Given the description of an element on the screen output the (x, y) to click on. 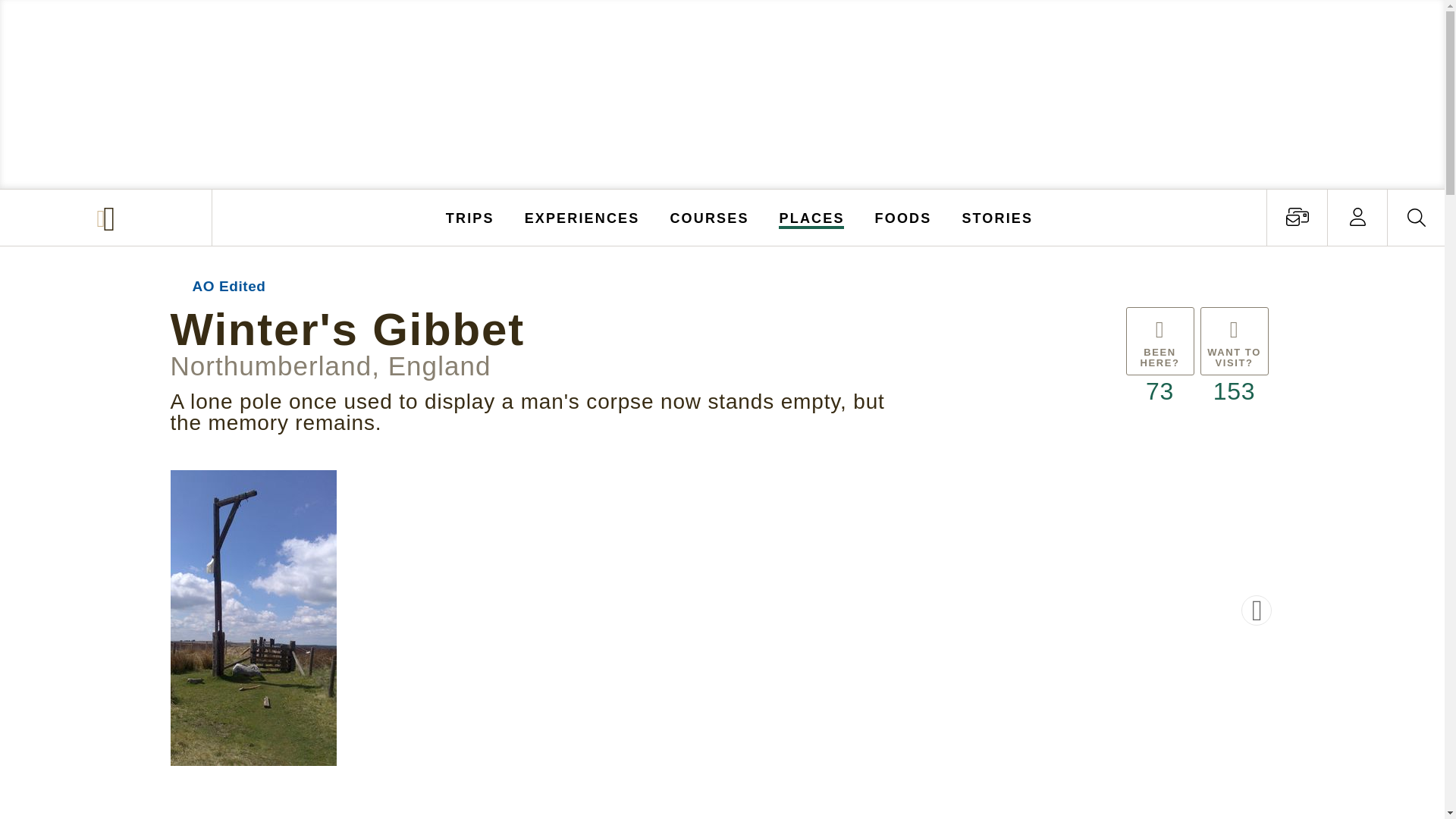
TRIPS (469, 217)
EXPERIENCES (582, 217)
PLACES (812, 217)
COURSES (707, 217)
